Given the description of an element on the screen output the (x, y) to click on. 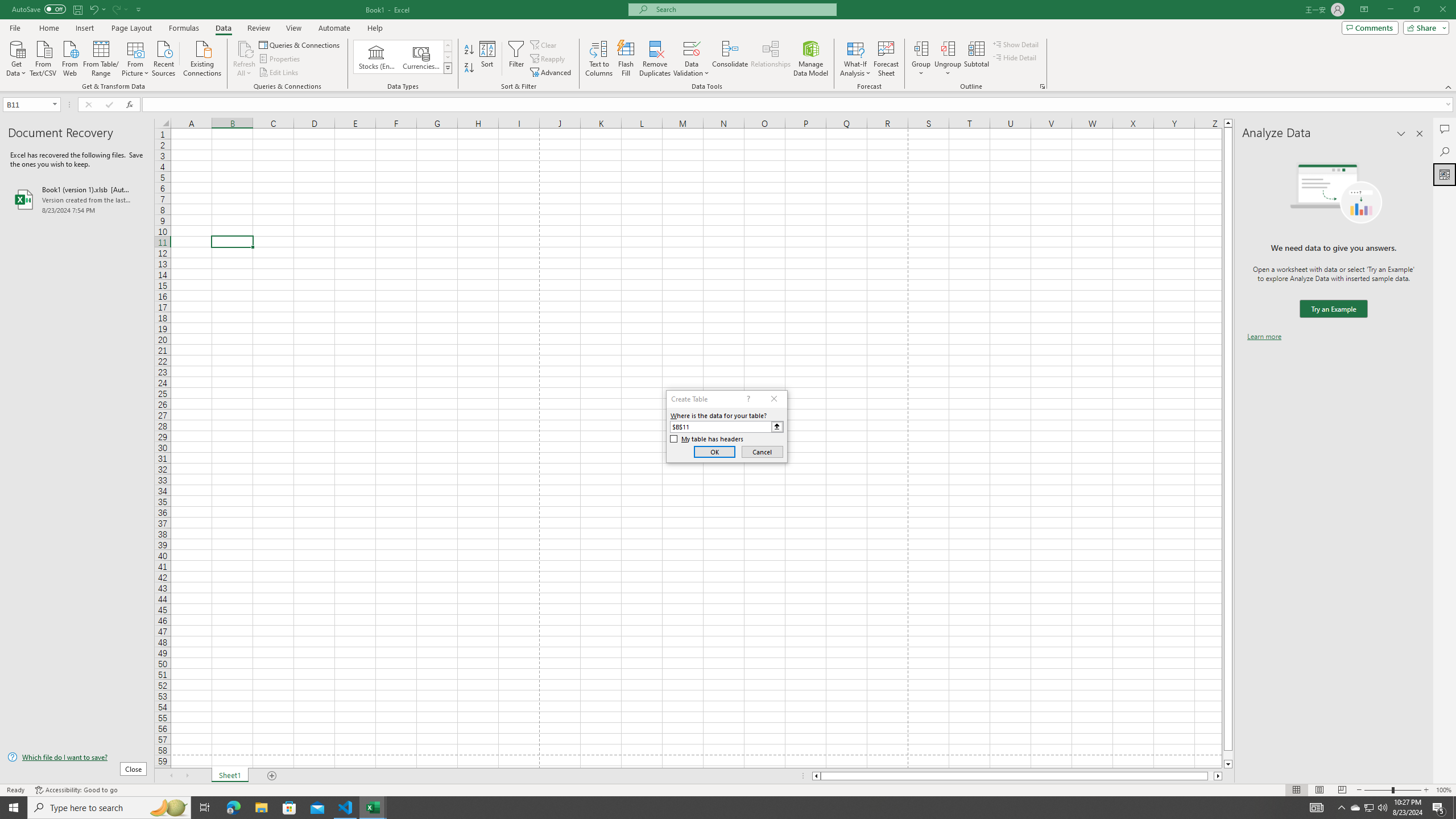
Advanced... (551, 72)
Forecast Sheet (885, 58)
Show Detail (1016, 44)
Subtotal (976, 58)
From Picture (135, 57)
